Given the description of an element on the screen output the (x, y) to click on. 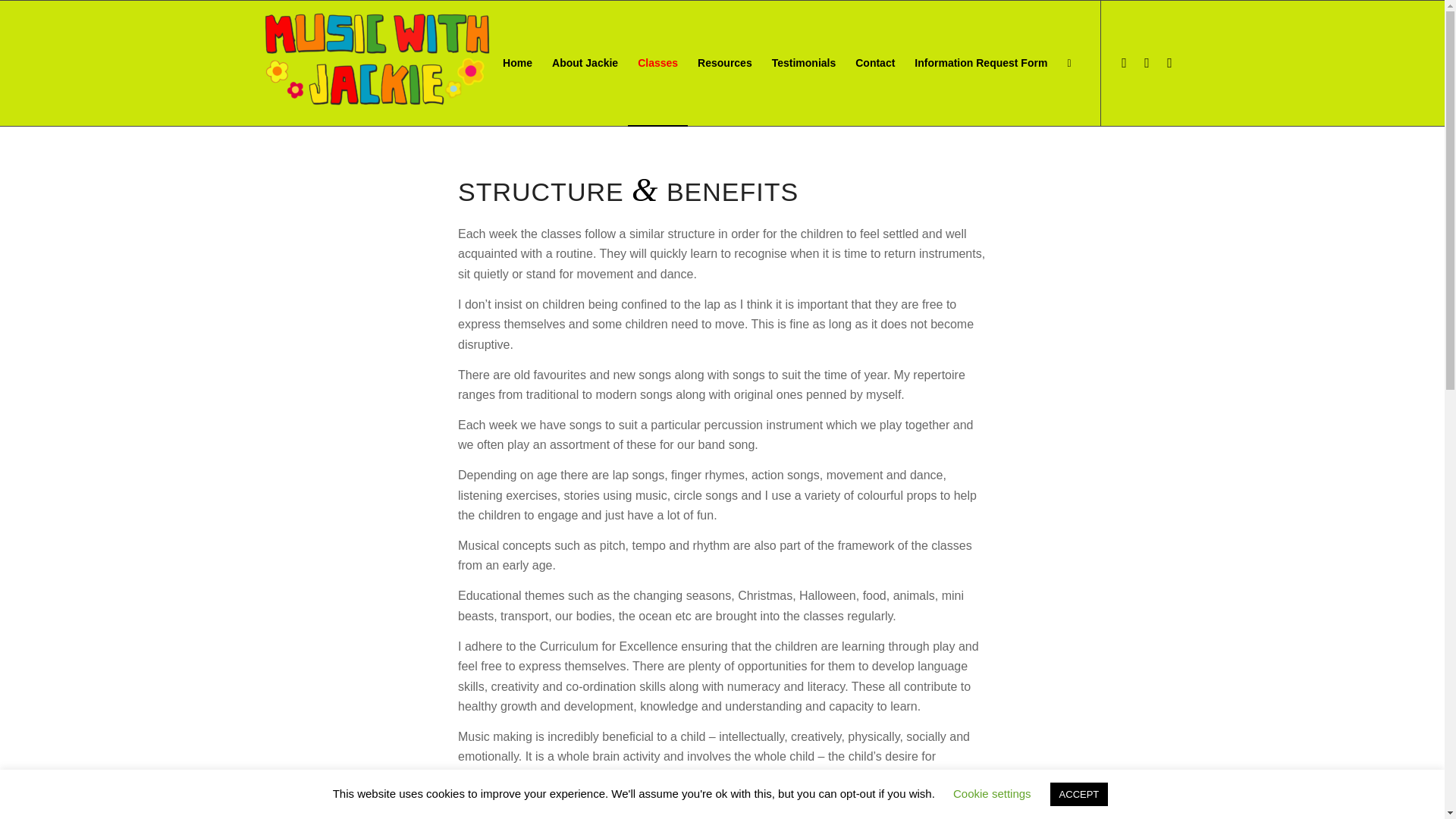
Information Request Form (980, 63)
Mail (1169, 62)
Cookie settings (991, 793)
Youtube (1146, 62)
ACCEPT (1078, 793)
Facebook (1124, 62)
